Given the description of an element on the screen output the (x, y) to click on. 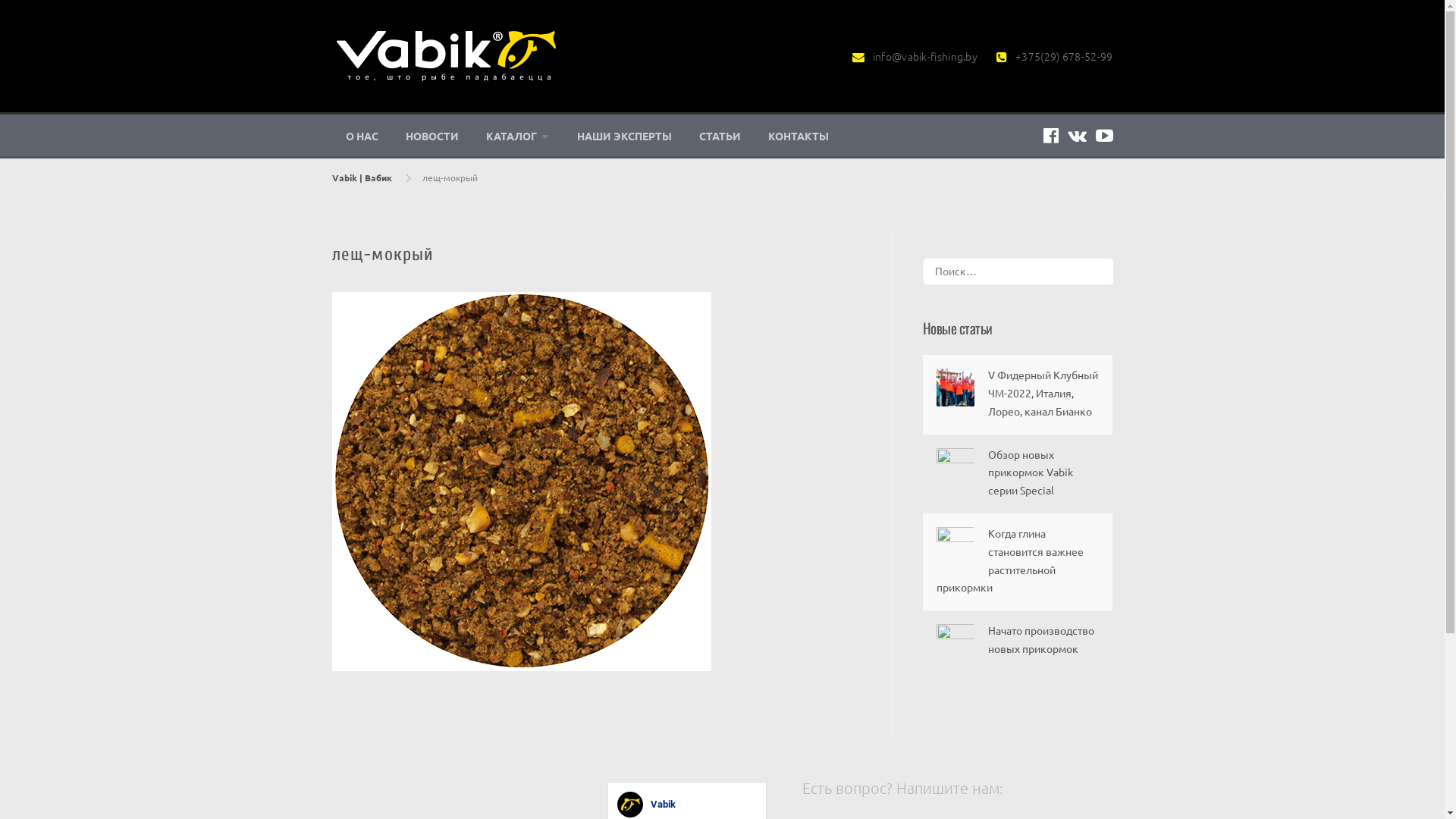
Youtube Element type: hover (1103, 134)
Facebook Element type: hover (1050, 134)
